Given the description of an element on the screen output the (x, y) to click on. 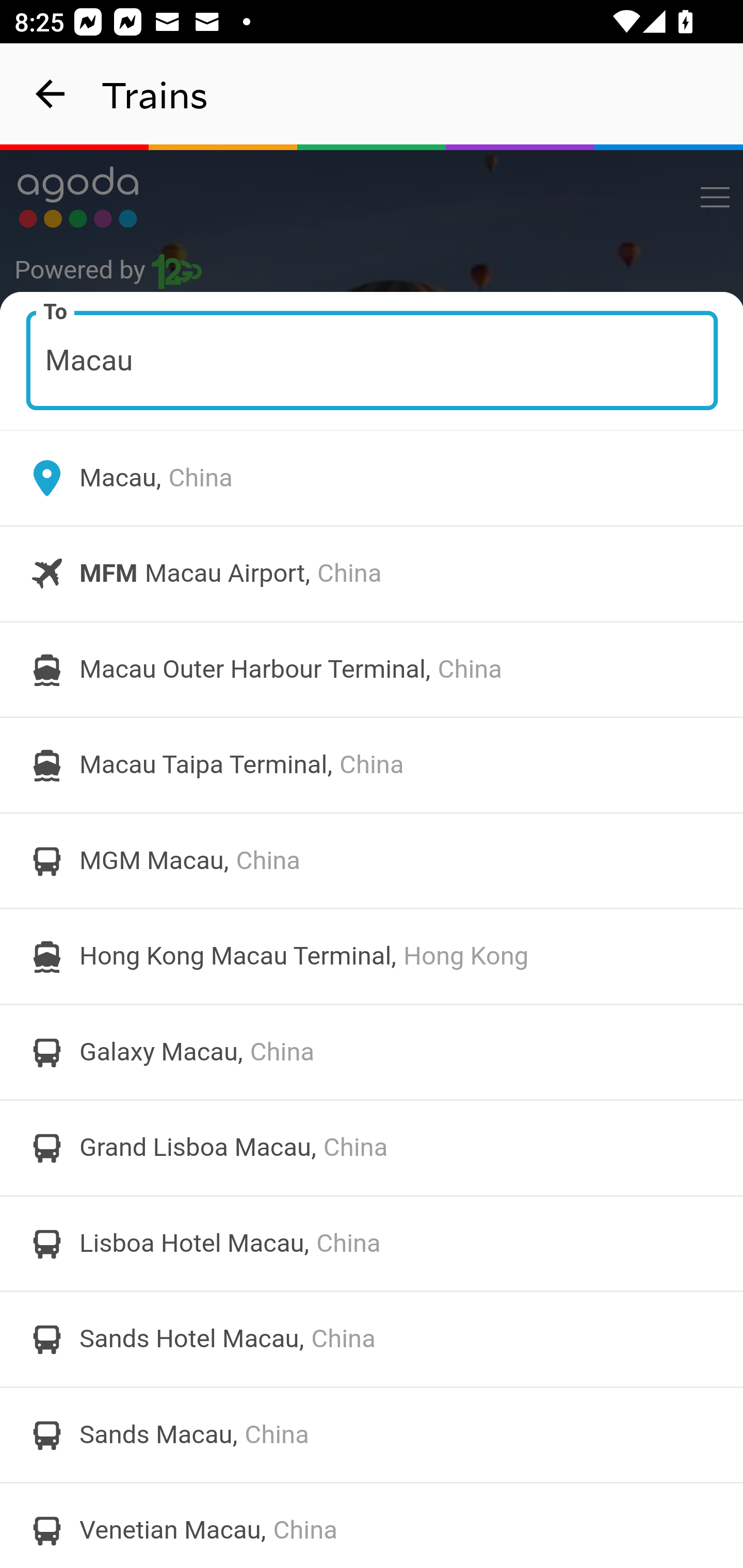
navigation_button (50, 93)
Macau (372, 359)
Macau,China (371, 477)
MFM Macau Airport , China (371, 573)
Macau Outer Harbour Terminal,China (371, 669)
Macau Taipa Terminal,China (371, 764)
MGM Macau,China (371, 860)
Hong Kong Macau Terminal,Hong Kong (371, 956)
Galaxy Macau,China (371, 1051)
Grand Lisboa Macau,China (371, 1147)
Lisboa Hotel Macau,China (371, 1243)
Sands Hotel Macau,China (371, 1339)
Sands Macau,China (371, 1434)
Venetian Macau,China (371, 1524)
